Given the description of an element on the screen output the (x, y) to click on. 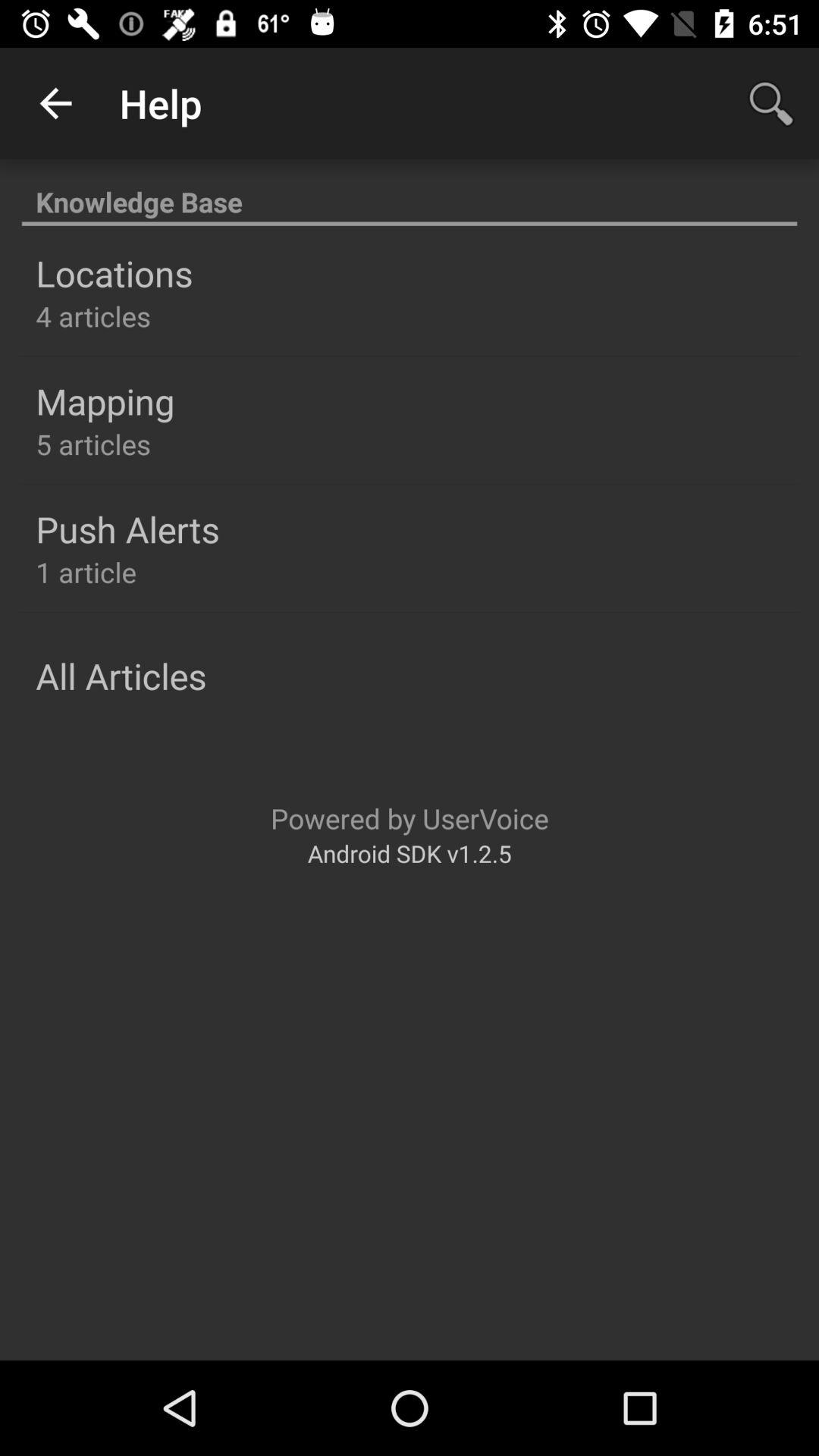
open the item above knowledge base item (55, 103)
